Given the description of an element on the screen output the (x, y) to click on. 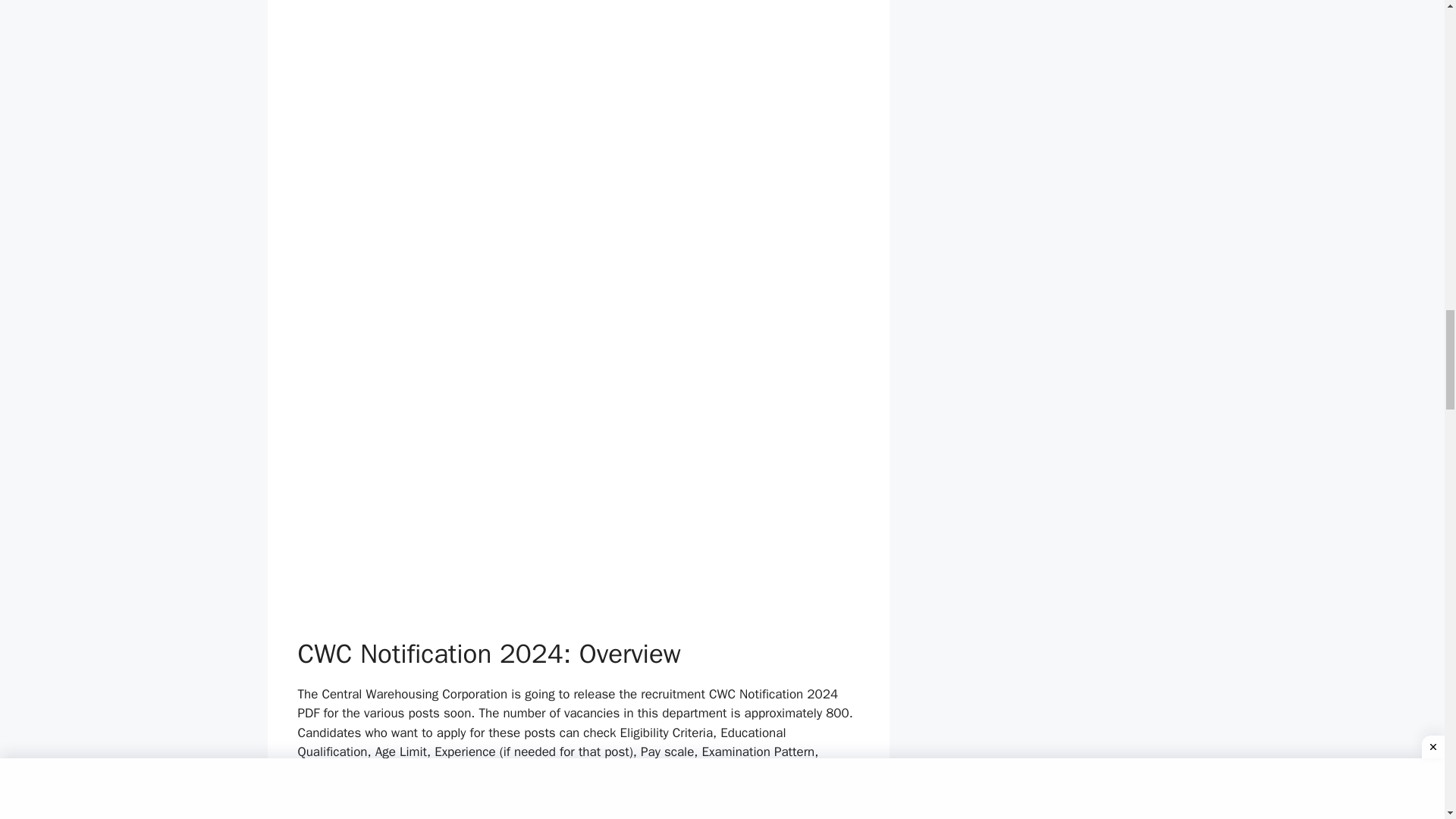
Advertisement (578, 525)
